Given the description of an element on the screen output the (x, y) to click on. 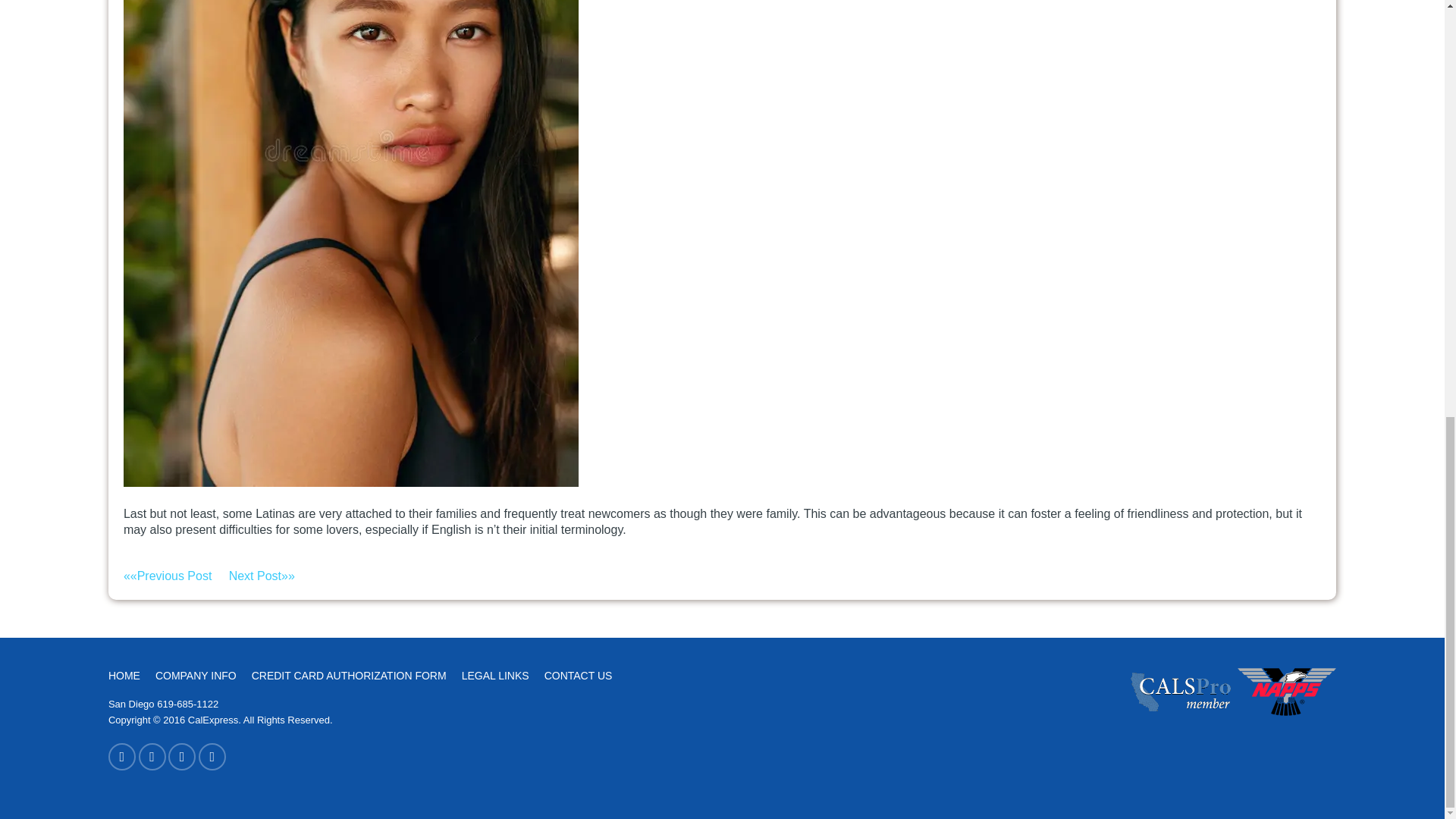
CREDIT CARD AUTHORIZATION FORM (348, 675)
LEGAL LINKS (495, 675)
HOME (123, 675)
CONTACT US (578, 675)
COMPANY INFO (195, 675)
